Given the description of an element on the screen output the (x, y) to click on. 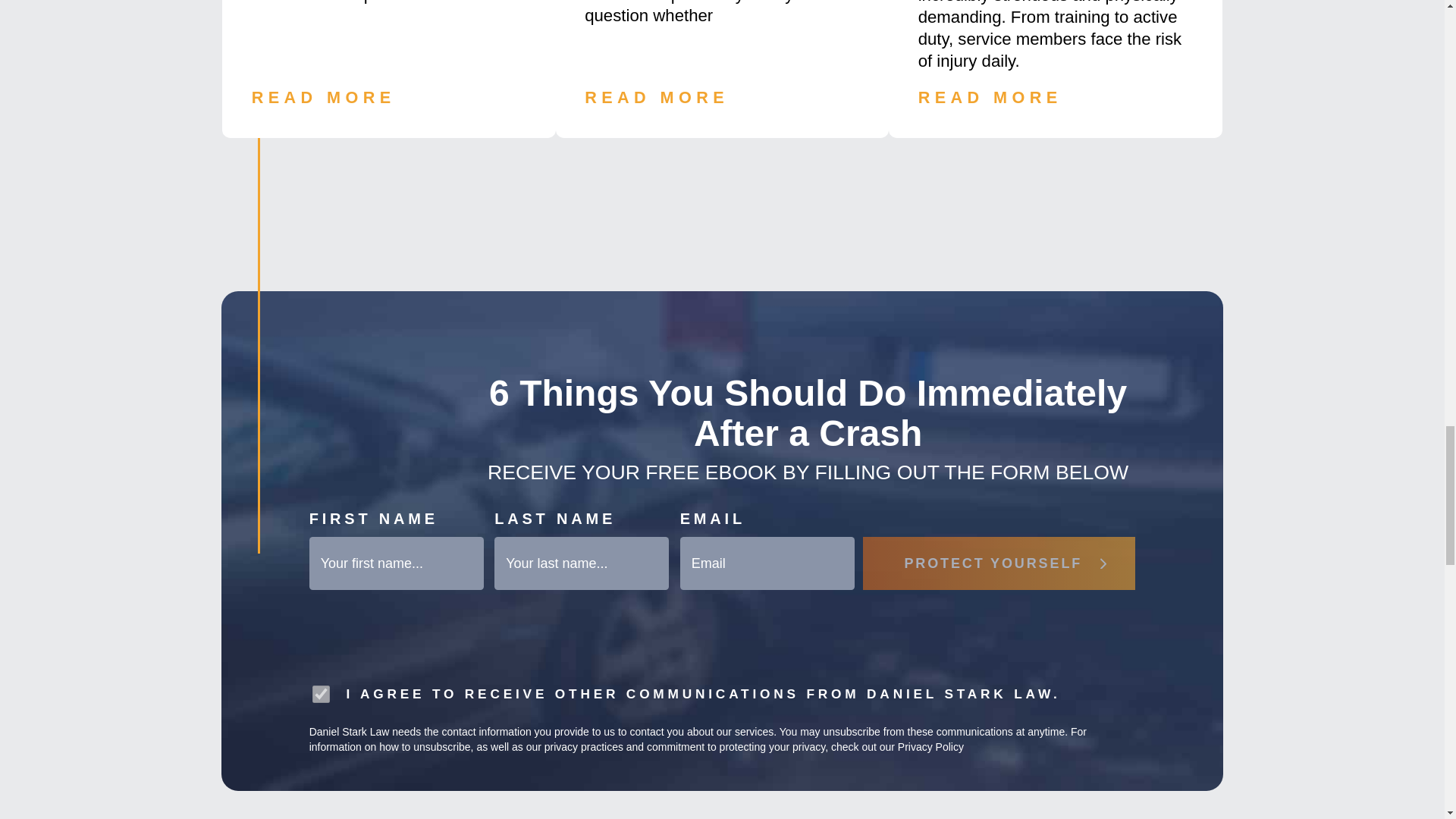
Privacy Policy (930, 746)
READ MORE (990, 96)
PROTECT YOURSELF (999, 563)
READ MORE (323, 96)
READ MORE (657, 96)
